Given the description of an element on the screen output the (x, y) to click on. 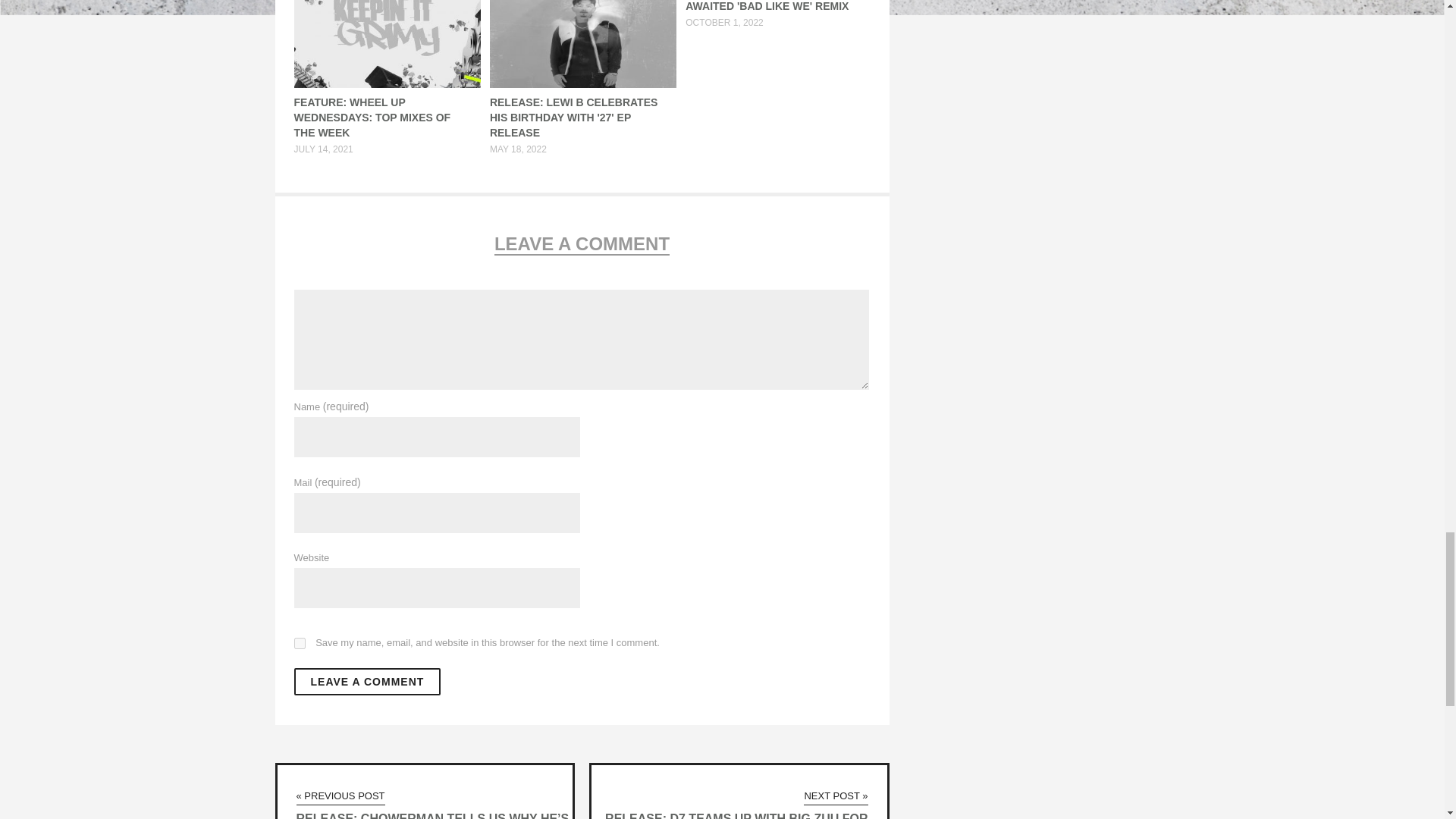
Leave a Comment (367, 681)
FEATURE: WHEEL UP WEDNESDAYS: TOP MIXES OF THE WEEK (372, 117)
yes (299, 643)
RELEASE: LEWI B CELEBRATES HIS BIRTHDAY WITH '27' EP RELEASE (573, 117)
JULY 14, 2021 (323, 149)
MAY 18, 2022 (518, 149)
